Given the description of an element on the screen output the (x, y) to click on. 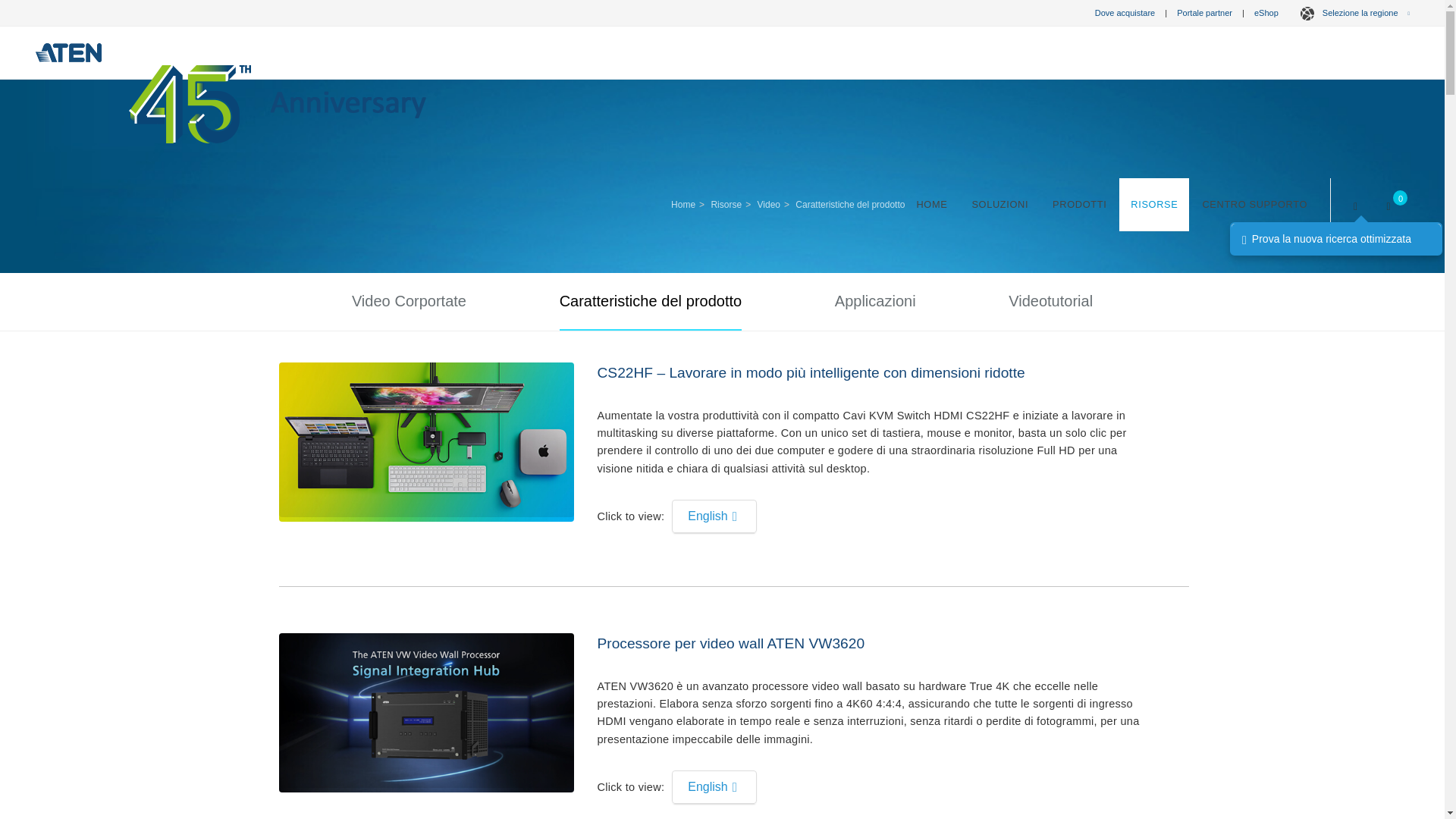
HOME (931, 204)
Dove acquistare (1125, 12)
SOLUZIONI (999, 204)
Home (931, 204)
Portale partner (1204, 12)
eShop (1265, 12)
Selezione la regione (1352, 12)
